Given the description of an element on the screen output the (x, y) to click on. 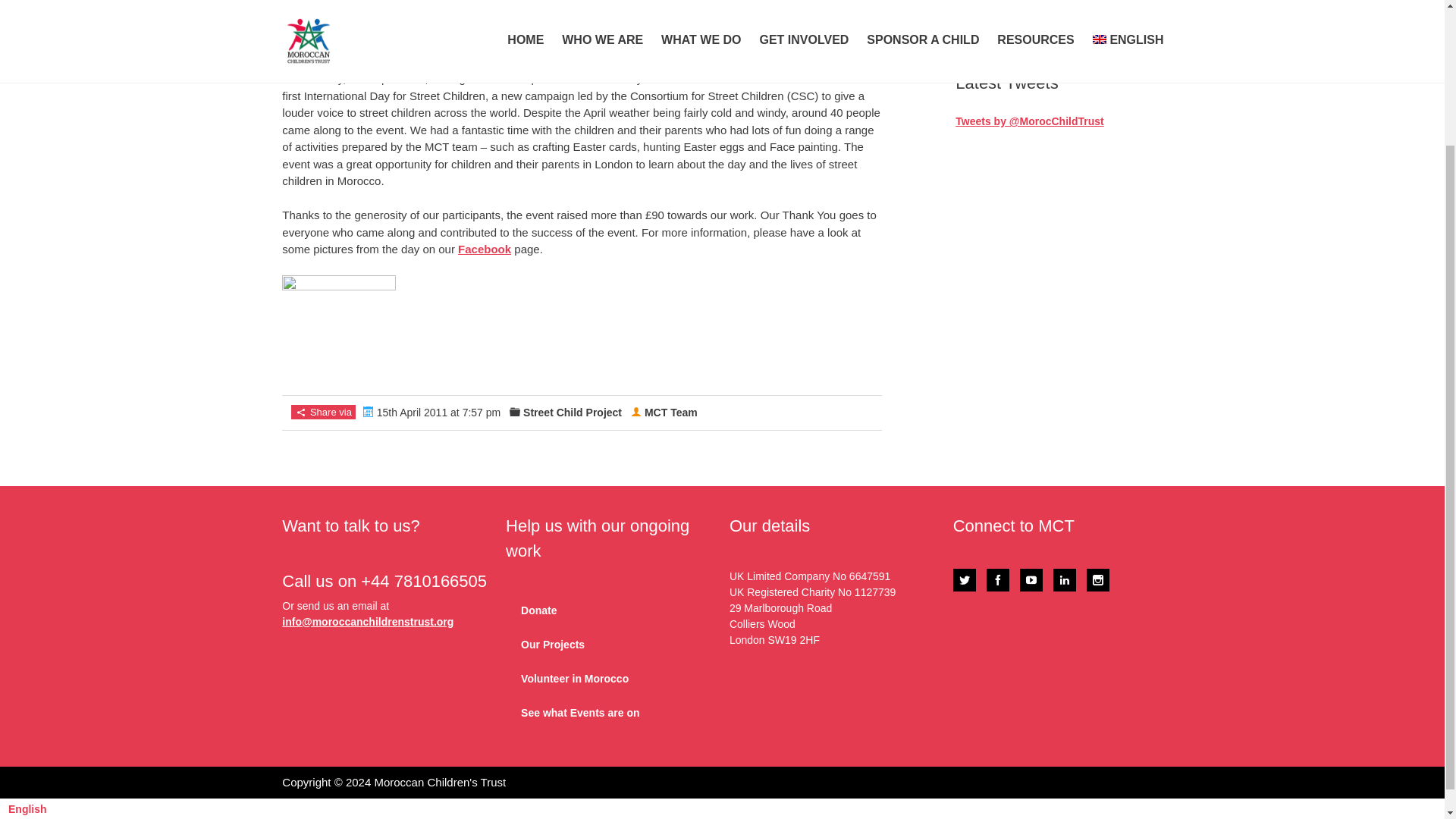
Facebook (484, 248)
Twitter (964, 579)
Facepaint (339, 332)
Facebook (998, 579)
YouTube (1031, 579)
